Given the description of an element on the screen output the (x, y) to click on. 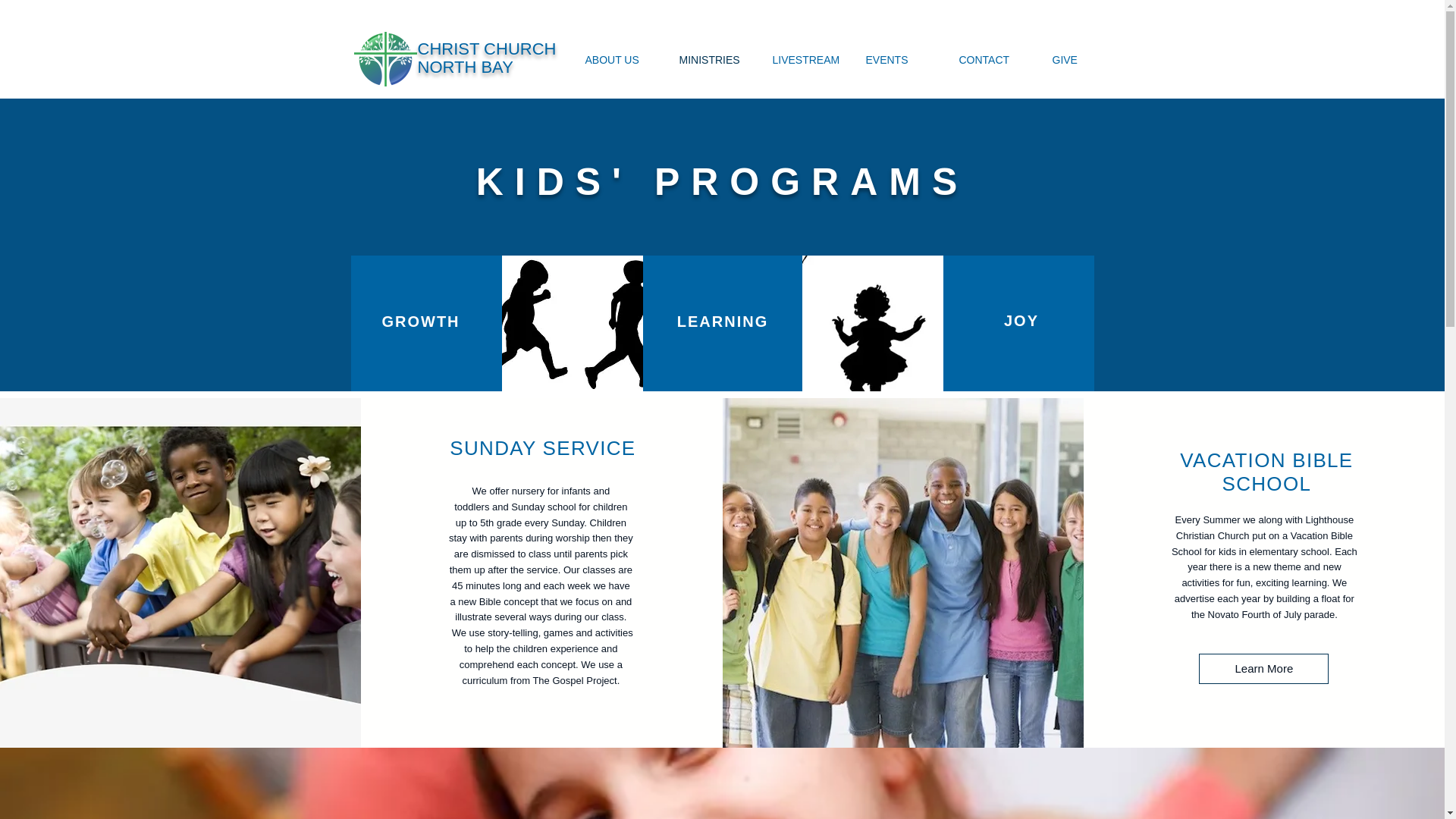
Learn More (1262, 668)
CONTACT (992, 59)
MINISTRIES (713, 59)
EVENTS (900, 59)
LIVESTREAM (806, 59)
GIVE (1086, 59)
ABOUT US (619, 59)
